Given the description of an element on the screen output the (x, y) to click on. 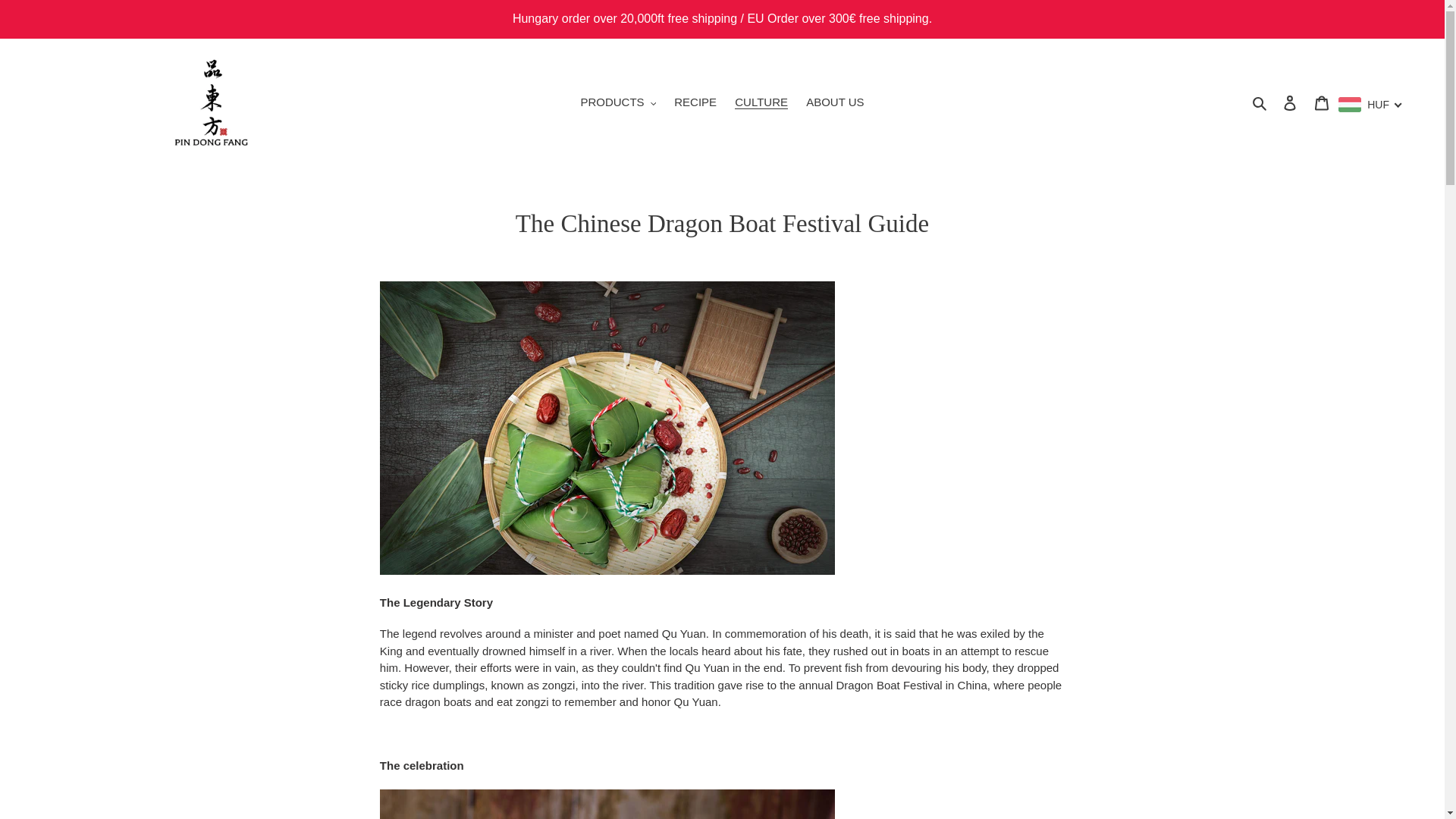
ABOUT US (833, 102)
CULTURE (760, 102)
Log in (1290, 102)
Search (1260, 102)
Cart (1322, 102)
RECIPE (694, 102)
PRODUCTS (617, 102)
